Given the description of an element on the screen output the (x, y) to click on. 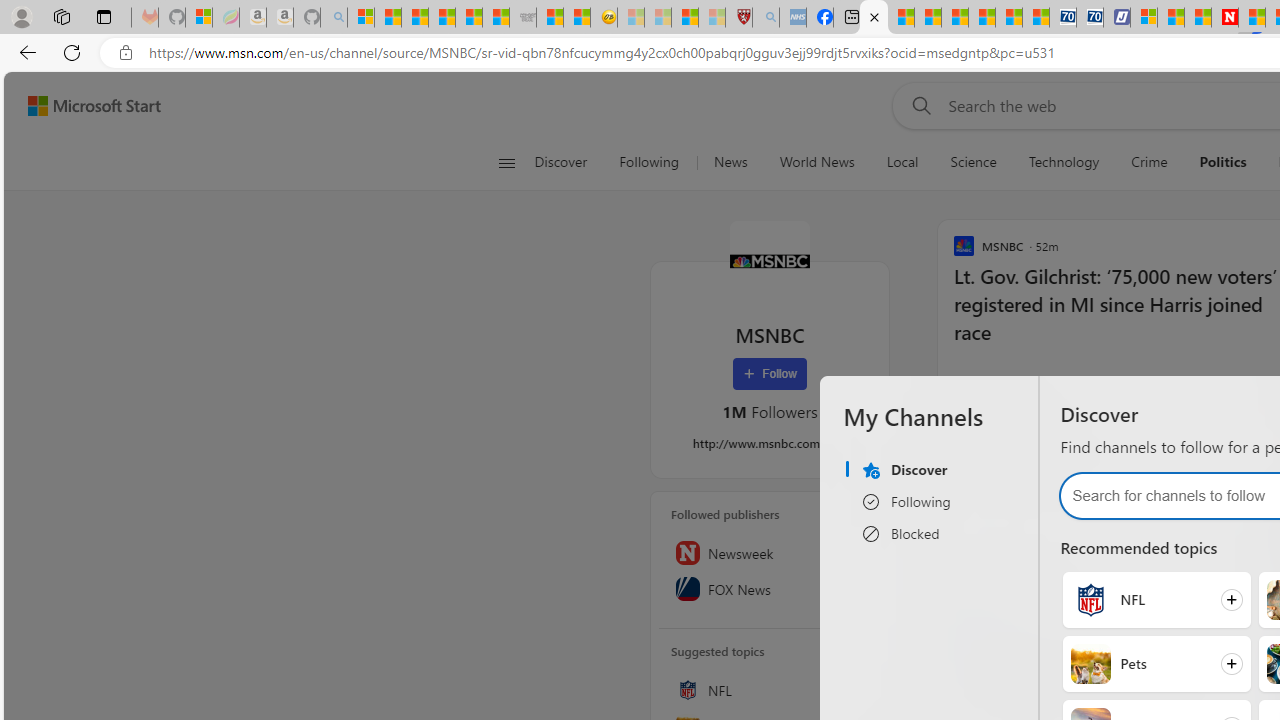
NFL (1090, 599)
Politics (1222, 162)
The Weather Channel - MSN (414, 17)
oceanbluemarine (1032, 560)
Fix Boat Bliss (1012, 484)
Recipes - MSN - Sleeping (630, 17)
Ad Choice (1261, 560)
